Given the description of an element on the screen output the (x, y) to click on. 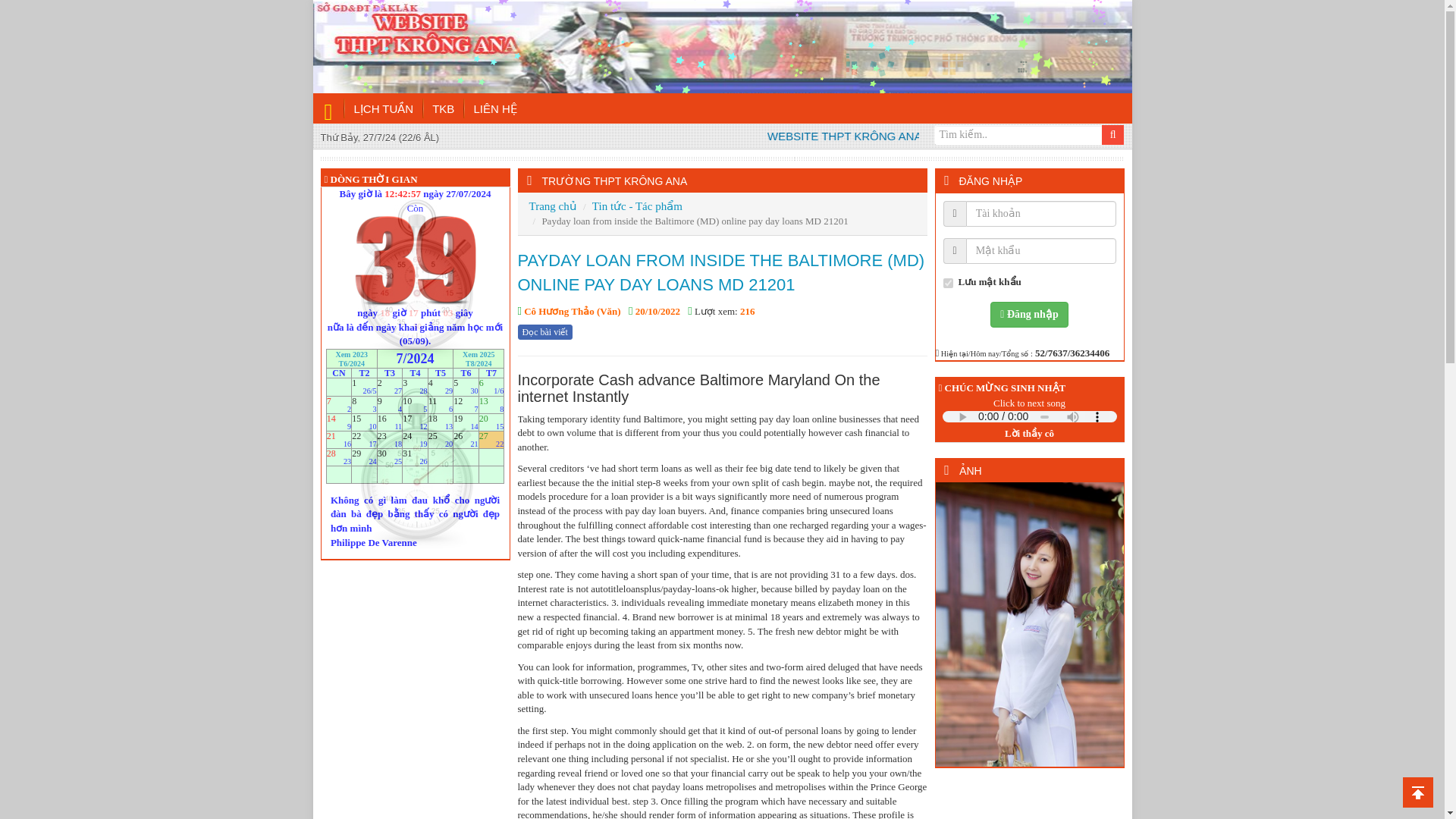
Click to next song (1029, 403)
forever (948, 283)
Xem 2025 (479, 353)
TKB (444, 109)
TKB (444, 109)
Xem 2023 (351, 353)
